Given the description of an element on the screen output the (x, y) to click on. 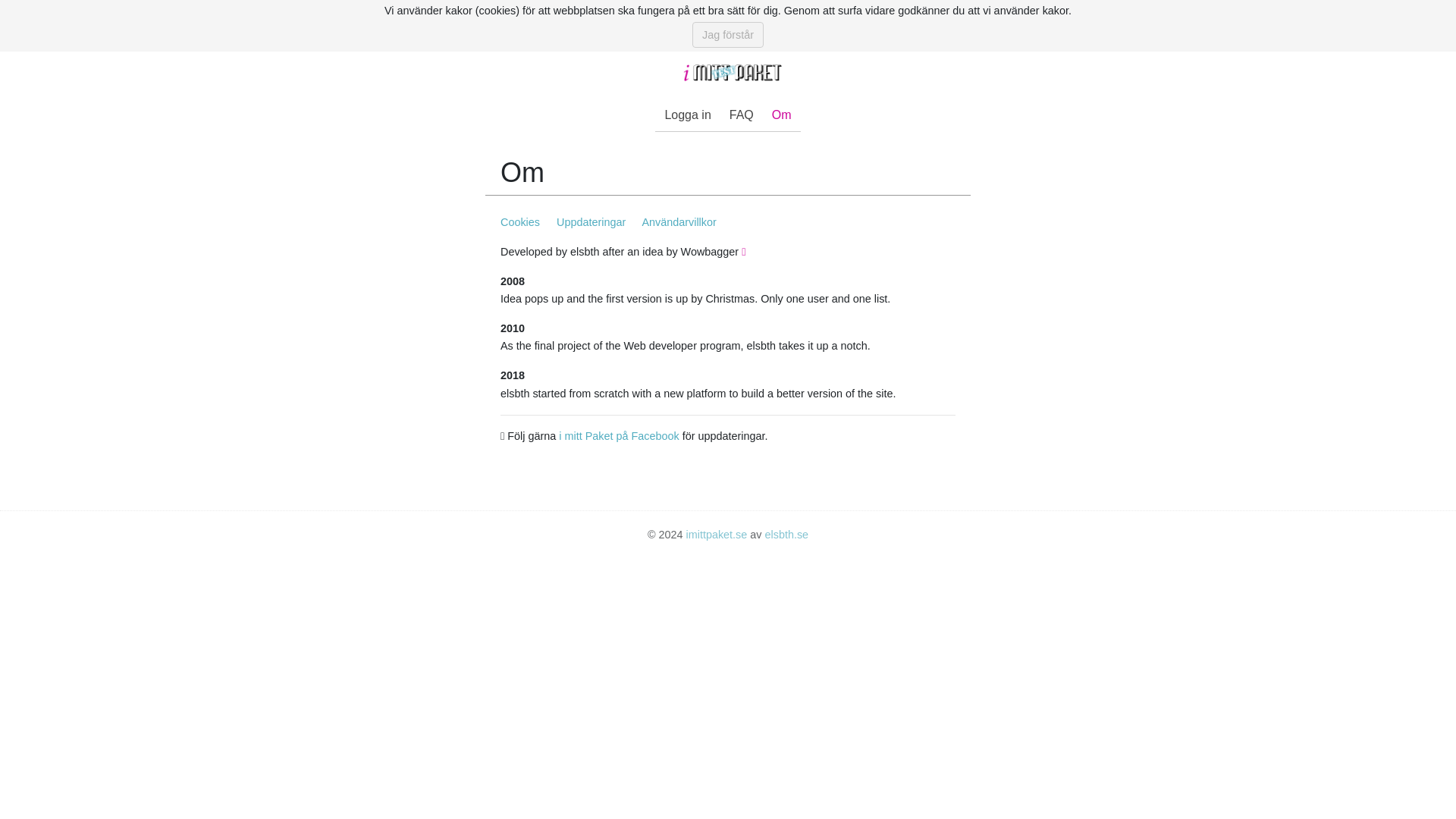
Om (781, 114)
elsbth.se (786, 534)
Cookies (523, 222)
Uppdateringar (594, 222)
imittpaket.se (716, 534)
Logga in (687, 114)
FAQ (741, 114)
